Given the description of an element on the screen output the (x, y) to click on. 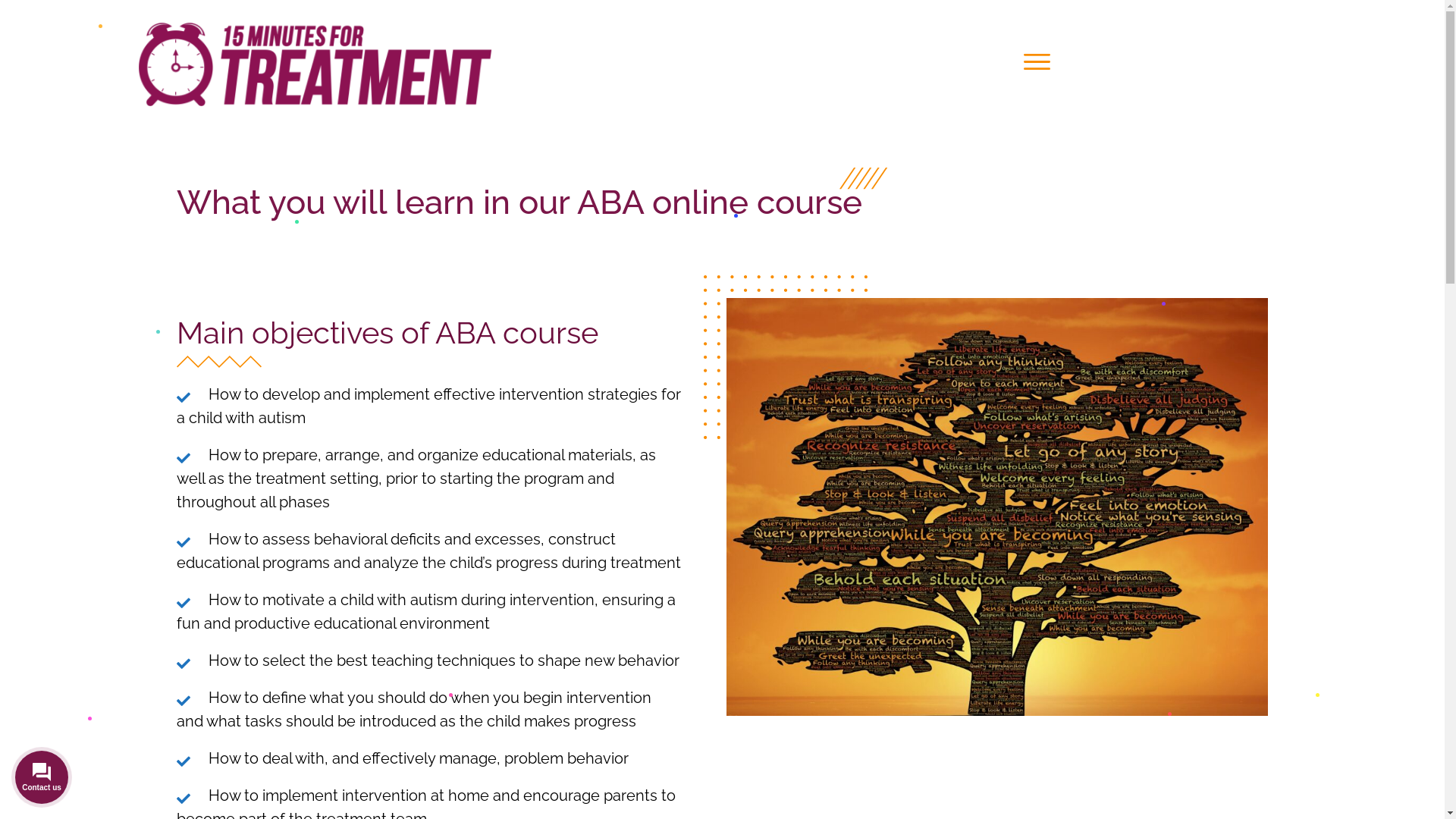
  Element type: text (184, 700)
  Element type: text (184, 663)
  Element type: text (184, 542)
  Element type: text (184, 397)
  Element type: text (184, 798)
  Element type: text (184, 603)
  Element type: text (184, 458)
  Element type: text (184, 761)
Aba course - objectives Element type: hover (996, 506)
